Given the description of an element on the screen output the (x, y) to click on. 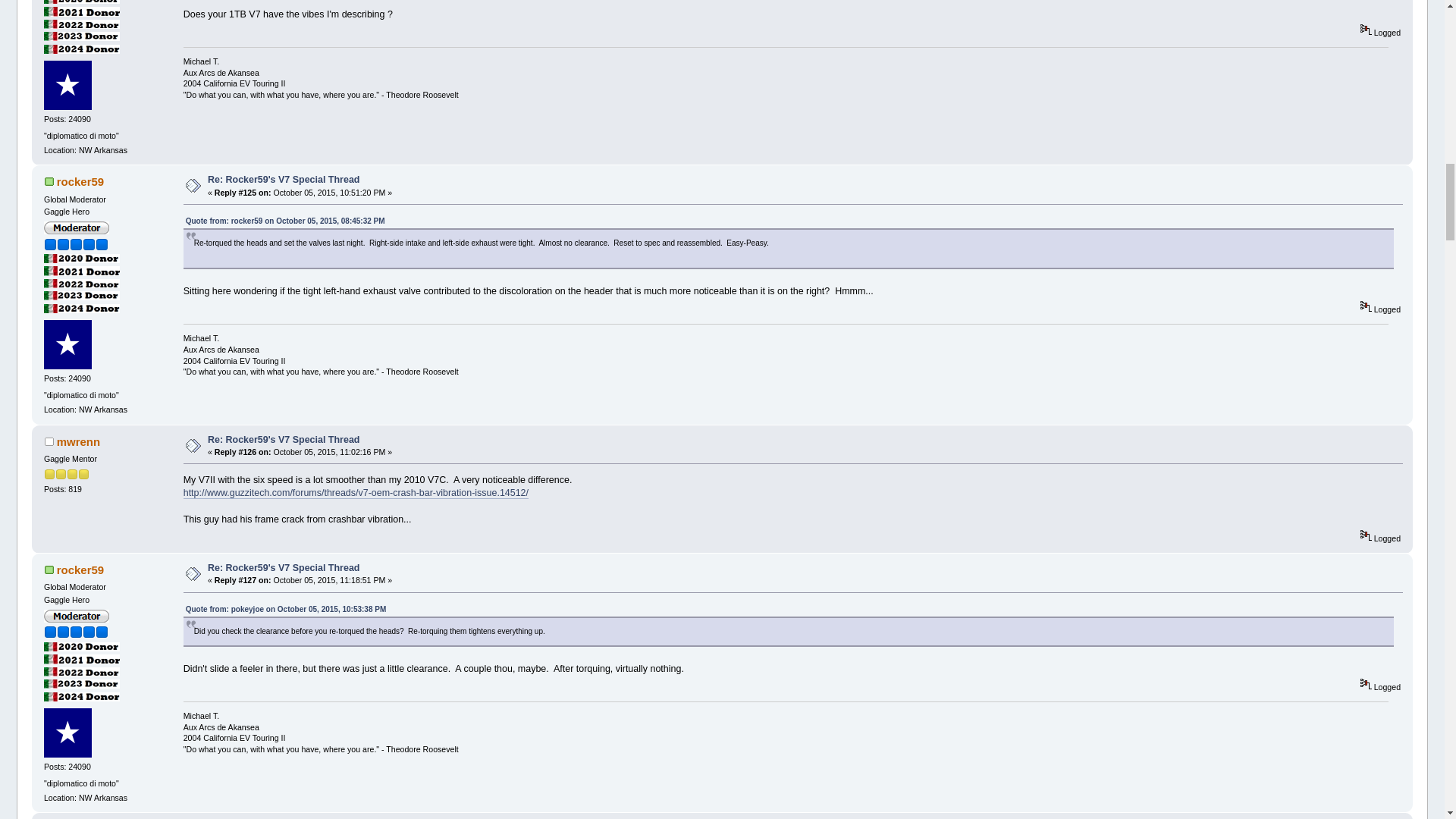
View the profile of rocker59 (79, 181)
View the profile of mwrenn (78, 440)
